Given the description of an element on the screen output the (x, y) to click on. 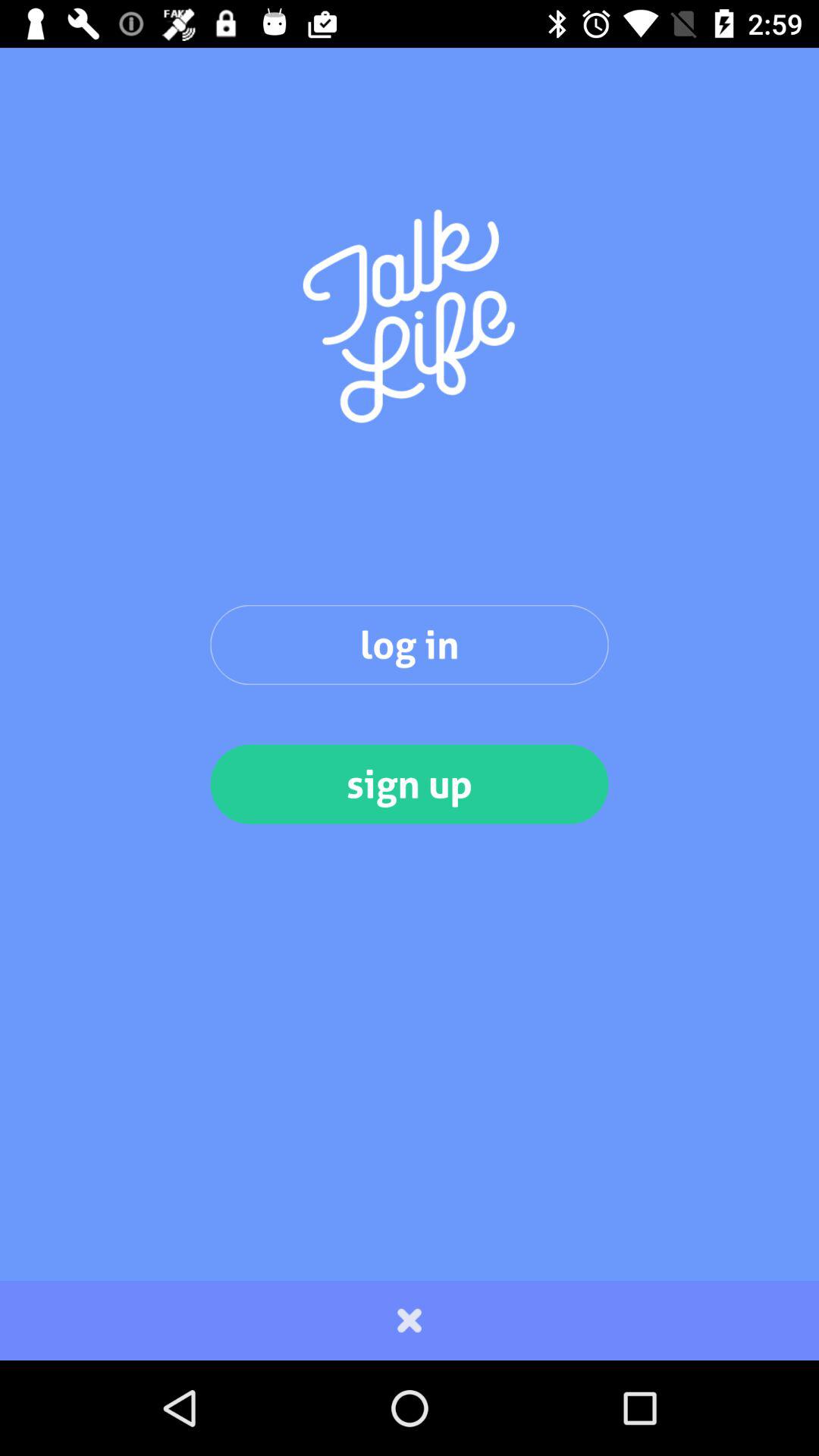
open item below the sign up icon (409, 1320)
